Given the description of an element on the screen output the (x, y) to click on. 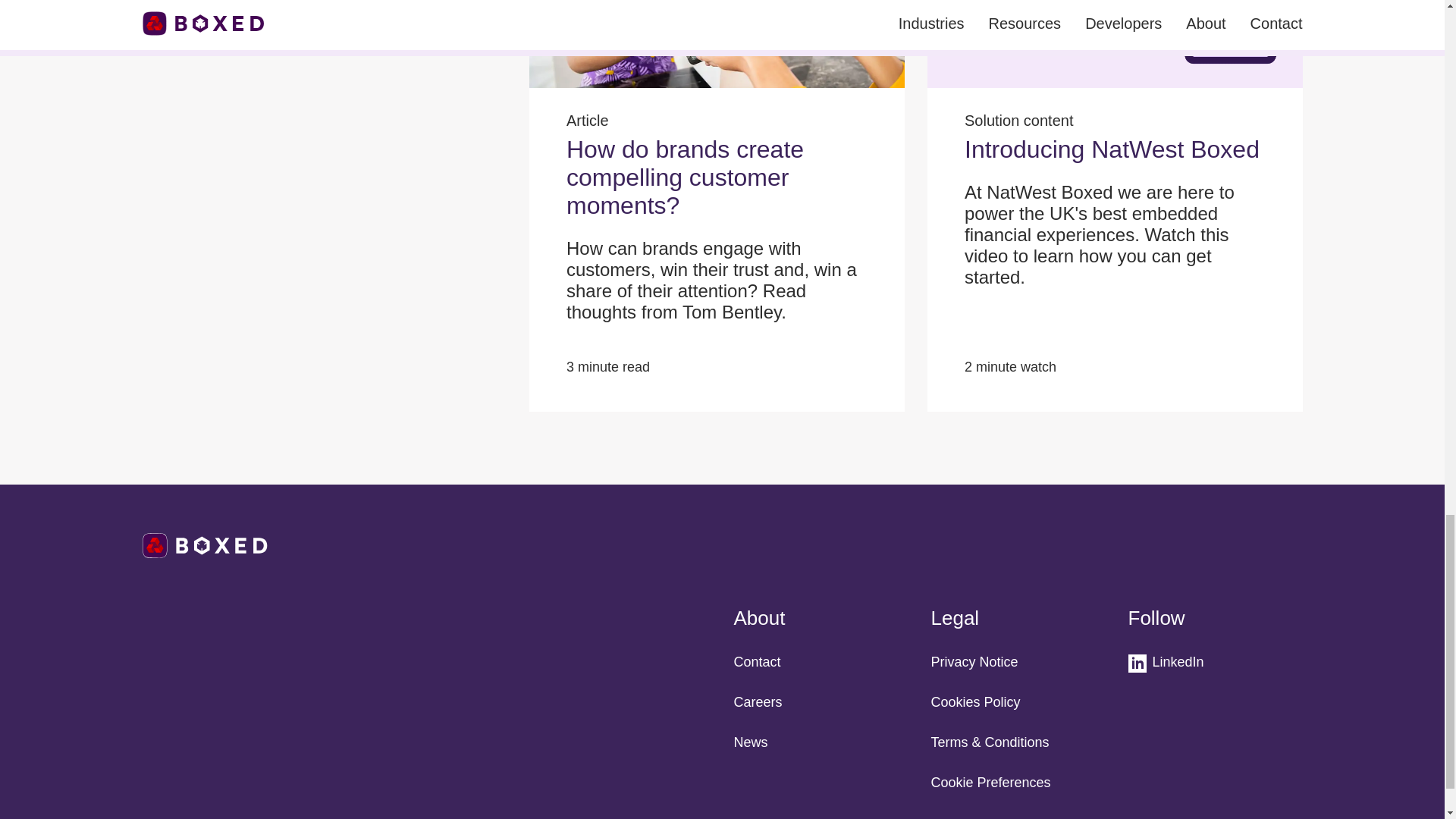
Cookie Preferences (991, 782)
